Given the description of an element on the screen output the (x, y) to click on. 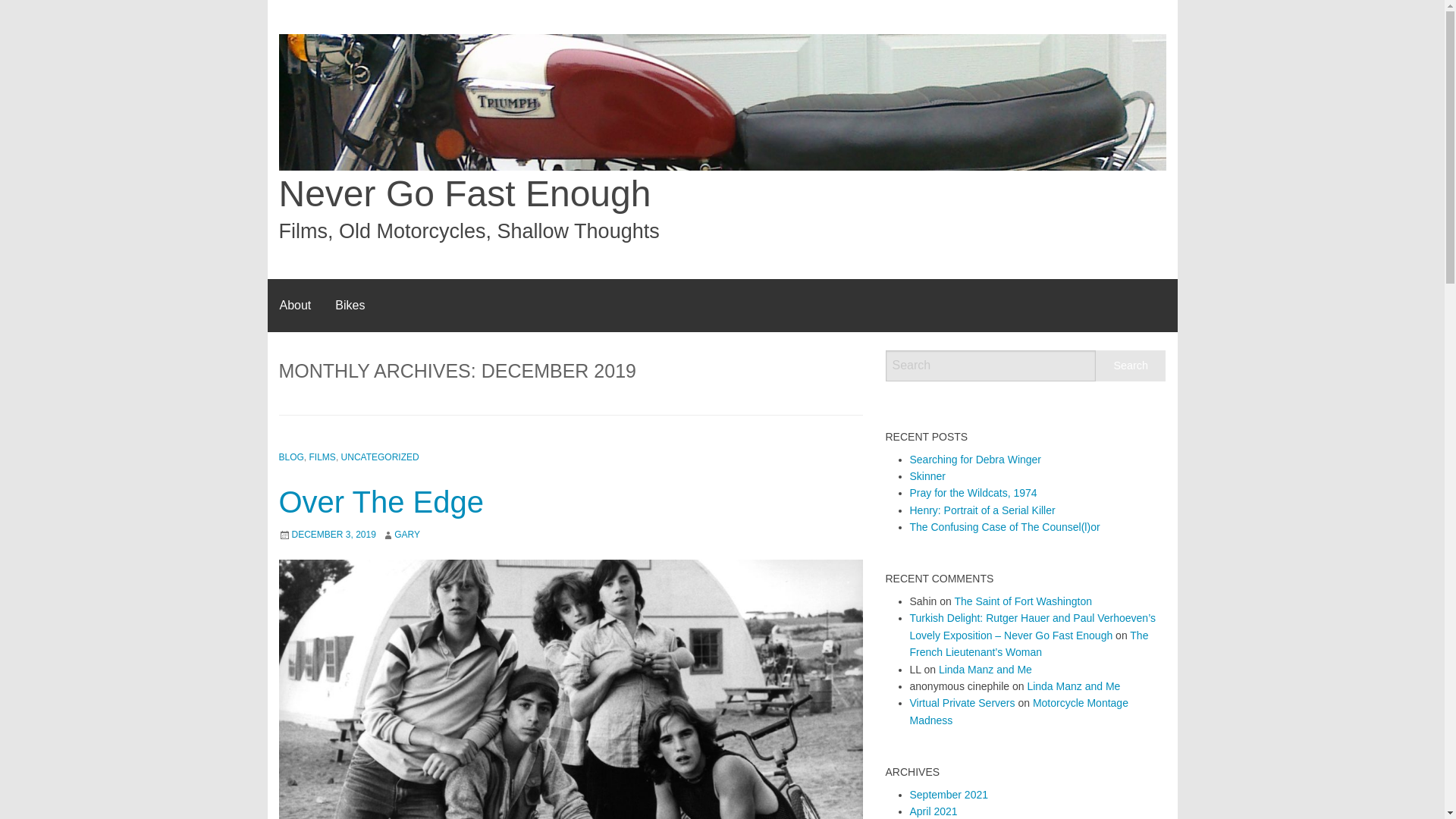
Over The Edge (381, 501)
Bikes (350, 305)
Virtual Private Servers (962, 702)
Linda Manz and Me (985, 669)
FILMS (322, 457)
Search (1131, 365)
Searching for Debra Winger (976, 459)
Pray for the Wildcats, 1974 (973, 492)
Search (1131, 365)
UNCATEGORIZED (379, 457)
Motorcycle Montage Madness (1019, 710)
Henry: Portrait of a Serial Killer (982, 510)
BLOG (291, 457)
GARY (407, 534)
Linda Manz and Me (1072, 686)
